Given the description of an element on the screen output the (x, y) to click on. 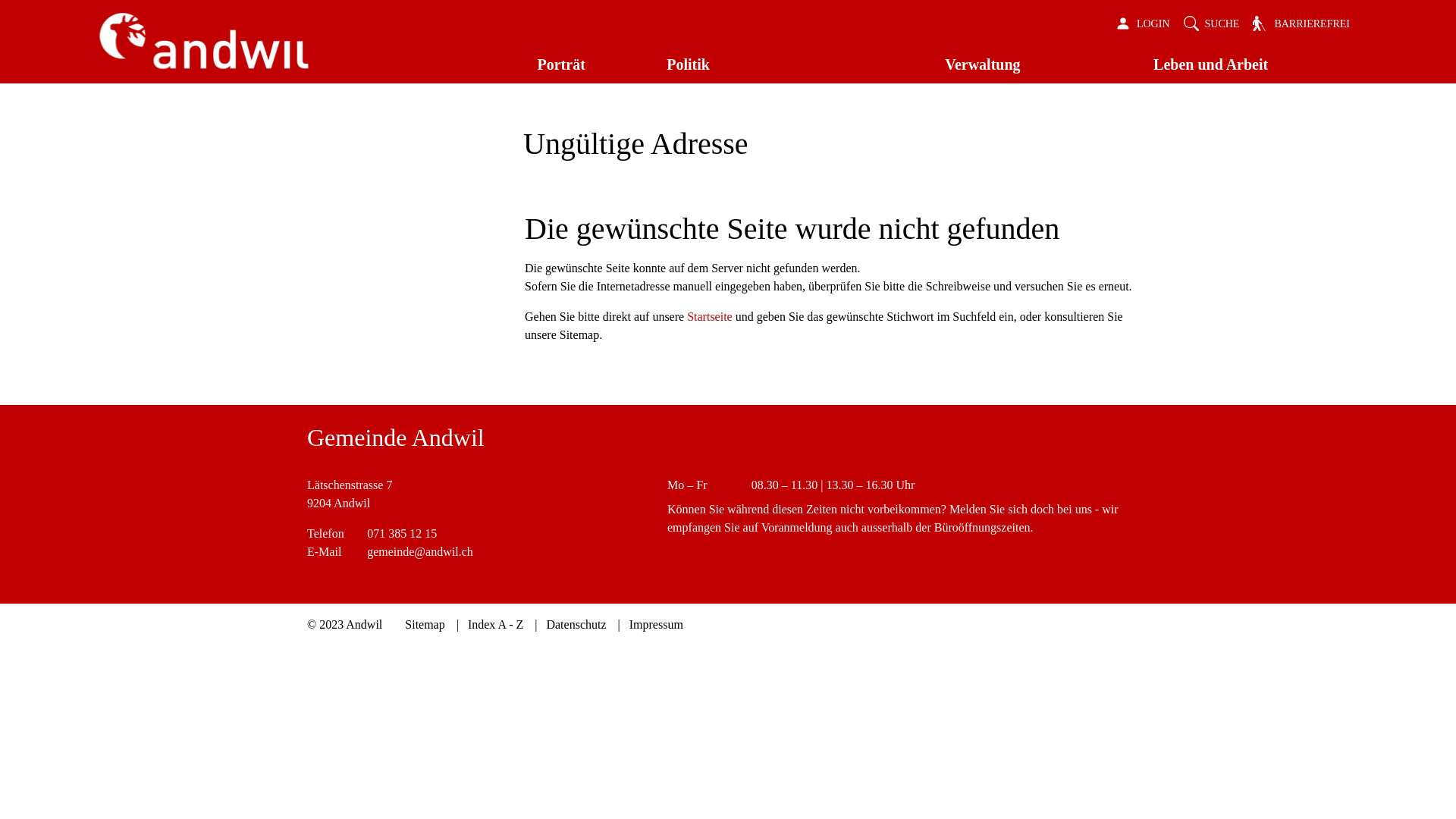
Mustergemeinde Element type: text (204, 40)
Sitemap Element type: text (431, 624)
LOGIN Element type: text (1142, 23)
Aktuelles Element type: text (941, 351)
Impressum Element type: text (656, 624)
Datenschutz Element type: text (582, 624)
Index A - Z Element type: text (502, 624)
Politik Element type: text (786, 64)
Leben und Arbeit Element type: text (1245, 64)
BARRIEREFREI Element type: text (1300, 23)
gemeinde@andwil.ch Element type: text (420, 551)
Verwaltung Element type: text (1030, 64)
071 385 12 15 Element type: text (401, 533)
Startseite Element type: text (709, 316)
SUCHE Element type: text (1211, 23)
